Given the description of an element on the screen output the (x, y) to click on. 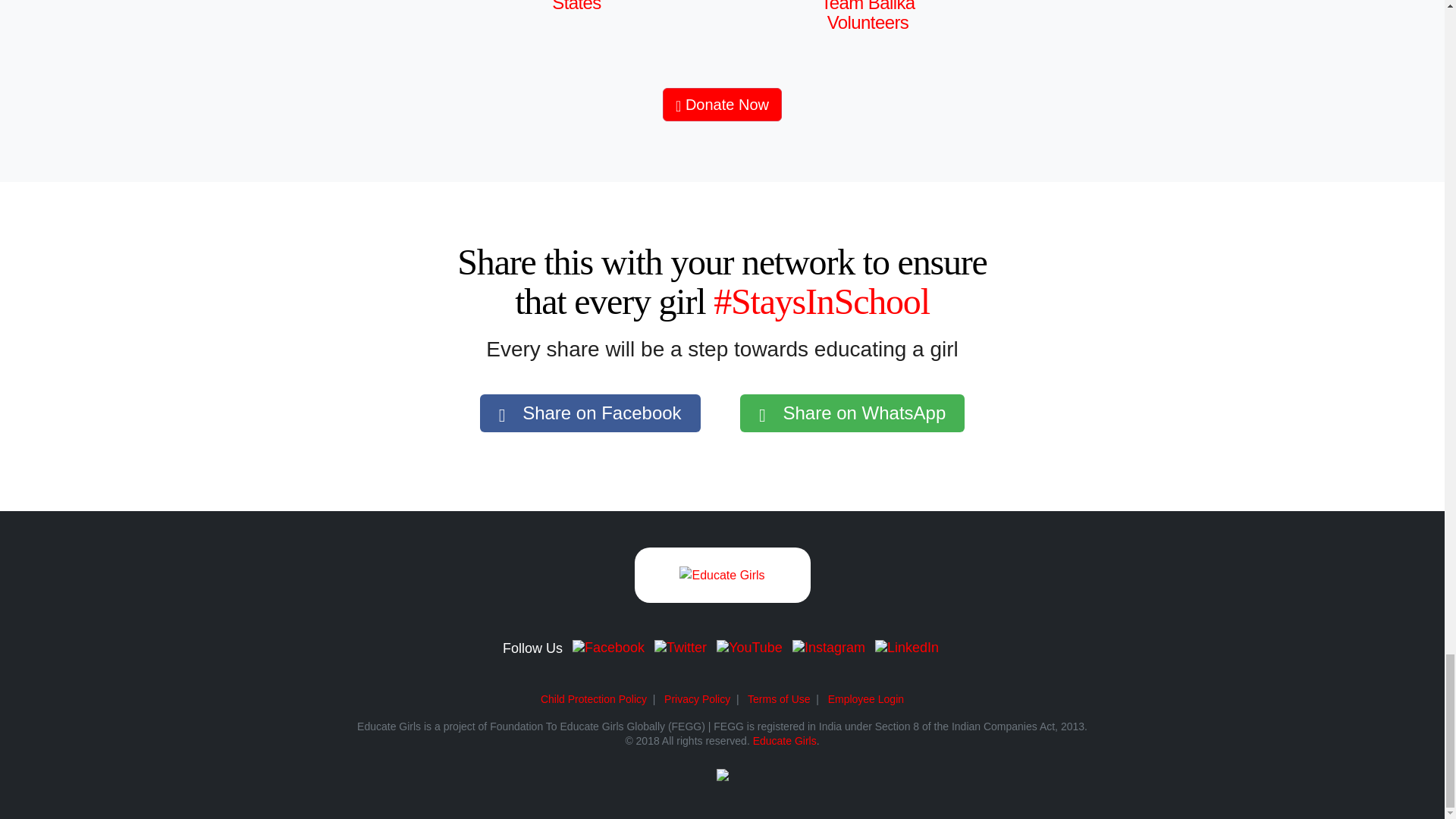
Employee Login (866, 698)
Share on Facebook (590, 412)
Privacy Policy (696, 698)
Donate Now (721, 104)
Terms of Use (778, 698)
Child Protection Policy (593, 698)
Educate Girls (784, 740)
Share on WhatsApp (851, 412)
